Given the description of an element on the screen output the (x, y) to click on. 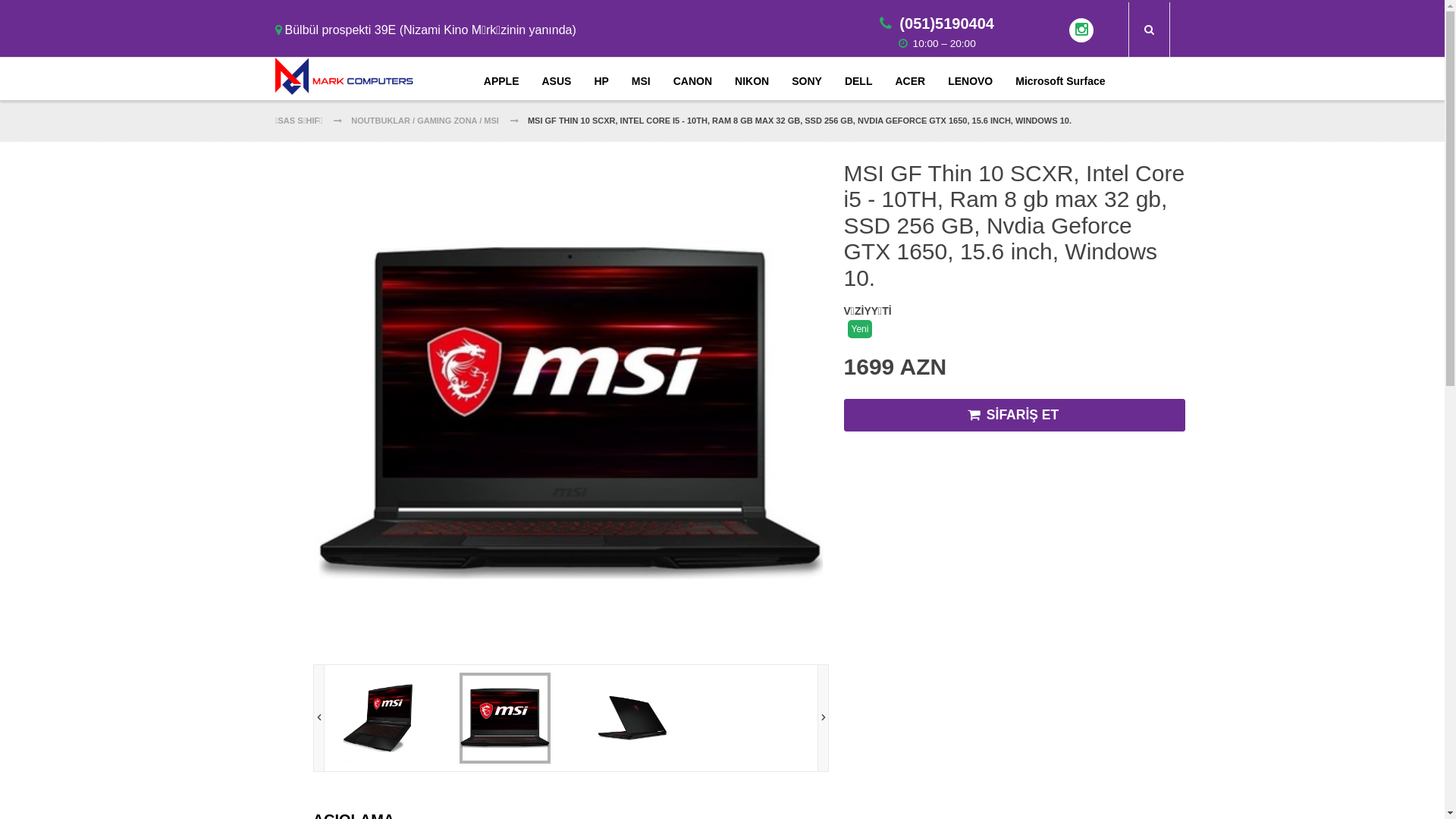
ASUS Element type: text (556, 80)
Instagram Element type: hover (1081, 30)
NIKON Element type: text (751, 80)
Microsoft Surface Element type: text (1060, 80)
NOUTBUKLAR / GAMING ZONA / MSI Element type: text (424, 120)
SONY Element type: text (806, 80)
DELL Element type: text (858, 80)
APPLE Element type: text (501, 80)
LENOVO Element type: text (970, 80)
Axtar Element type: text (1148, 29)
CANON Element type: text (692, 80)
HP Element type: text (600, 80)
MSI Element type: text (641, 80)
ACER Element type: text (909, 80)
